Given the description of an element on the screen output the (x, y) to click on. 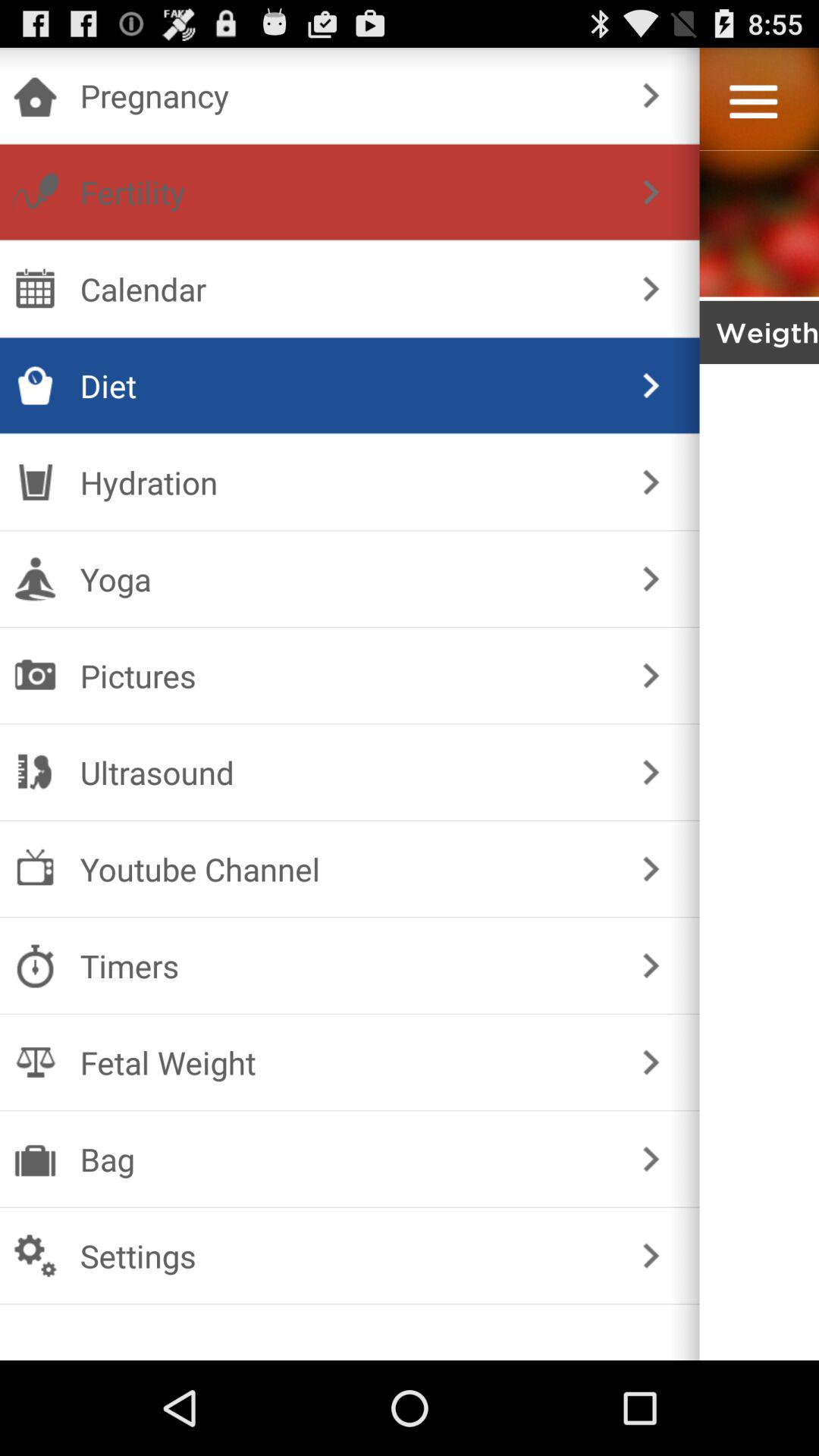
launch the item below the pregnancy item (651, 191)
